Given the description of an element on the screen output the (x, y) to click on. 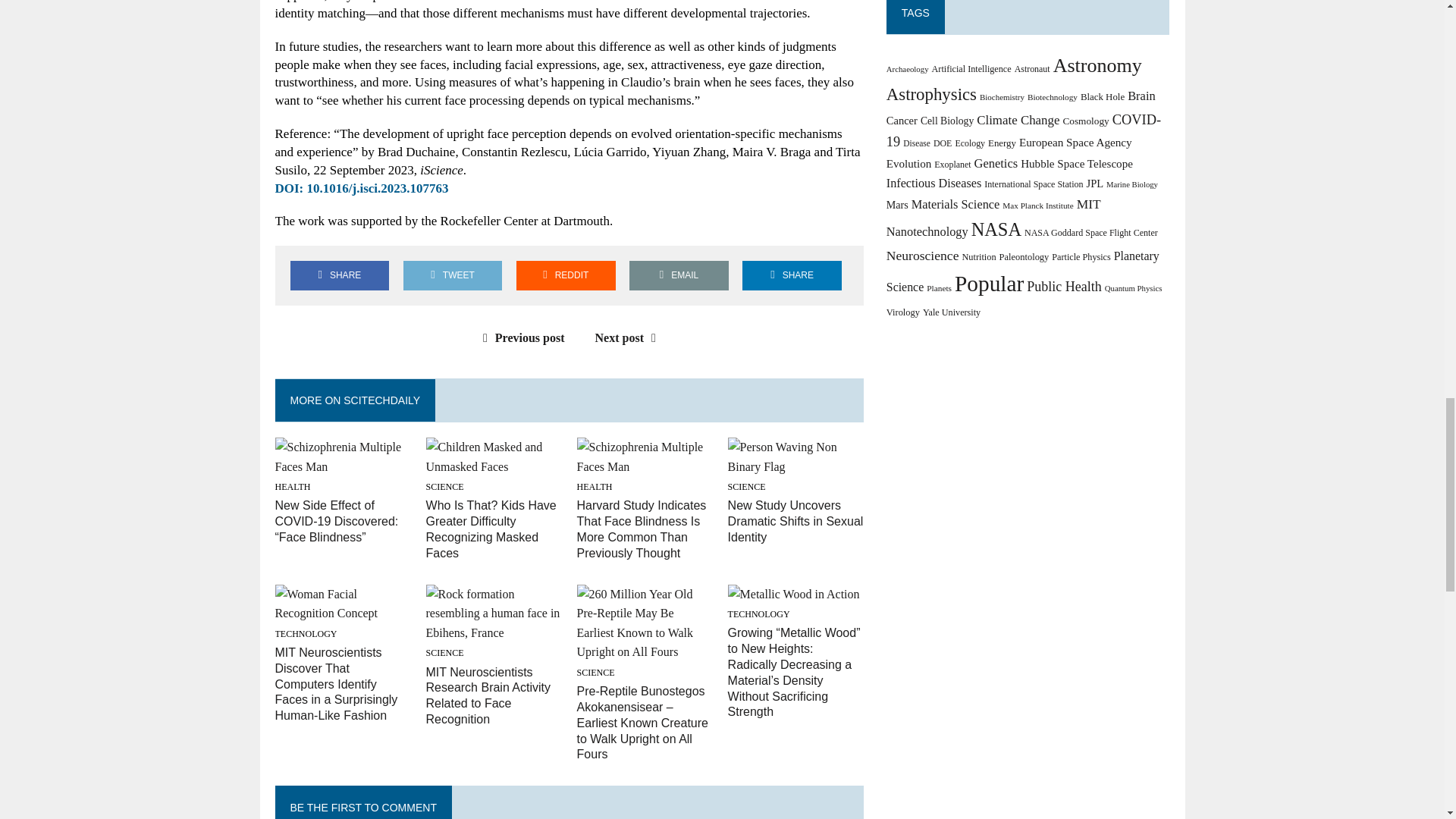
REDDIT (565, 275)
SHARE (338, 275)
Previous post (520, 337)
Share on LinkedIn (791, 275)
Next post (629, 337)
Tweet This Article (452, 275)
TWEET (452, 275)
EMAIL (678, 275)
SHARE (791, 275)
Post This Article to Reddit (565, 275)
